Given the description of an element on the screen output the (x, y) to click on. 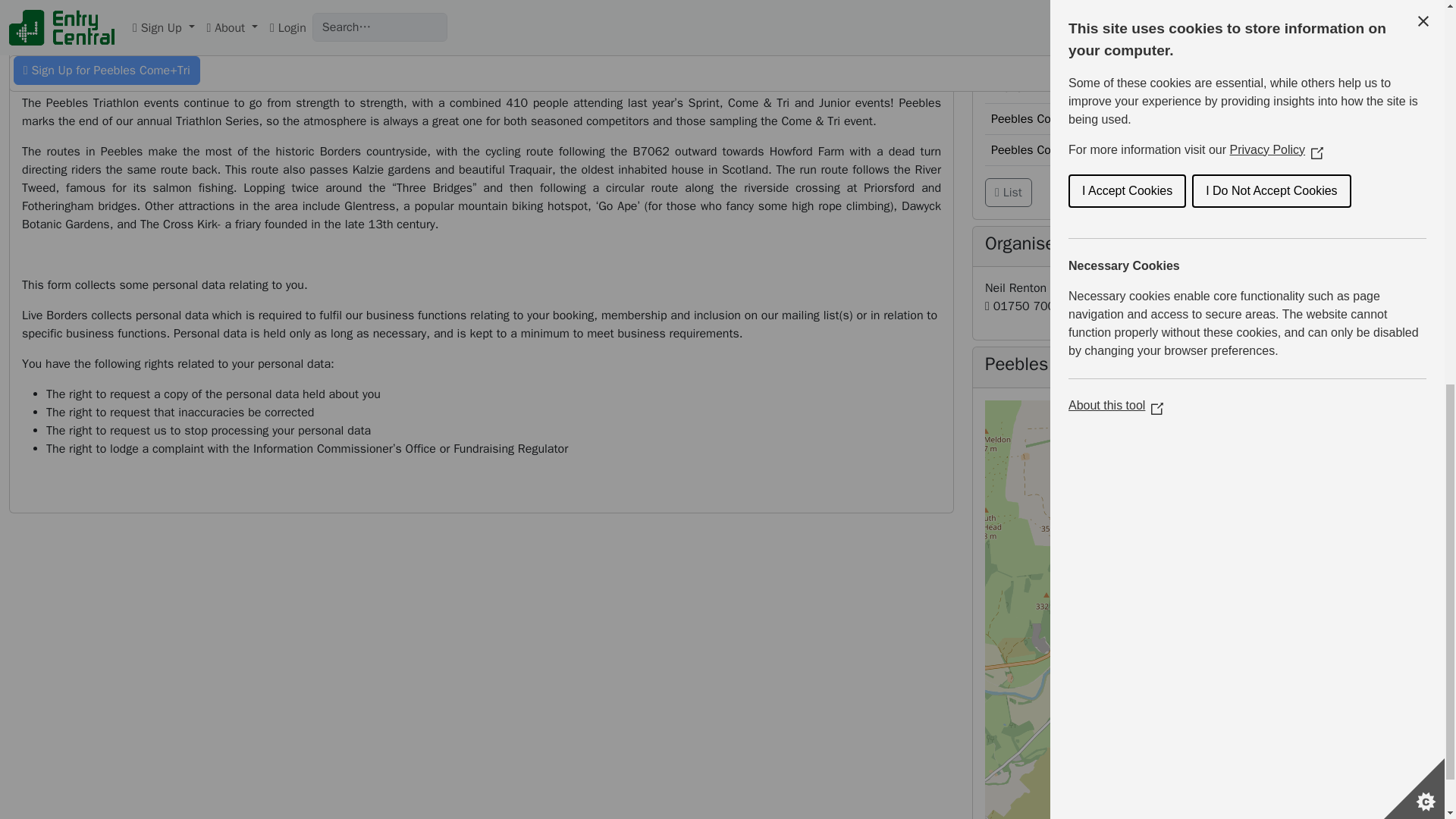
List (1008, 192)
Show Map (1016, 412)
Zoom in (1401, 420)
Zoom out (1401, 443)
